Given the description of an element on the screen output the (x, y) to click on. 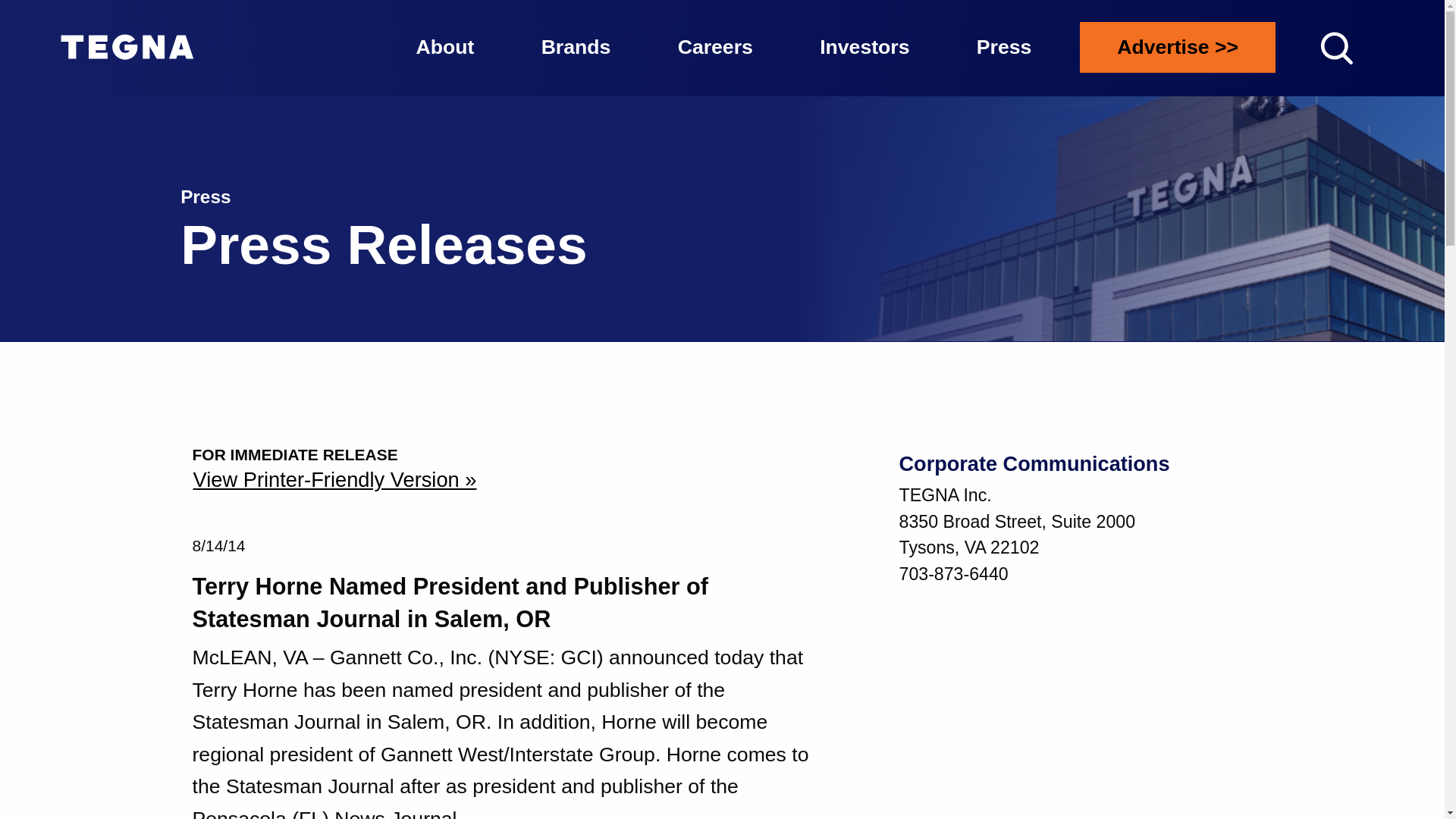
Press (1003, 47)
About (444, 47)
Careers (715, 47)
Brands (576, 47)
Investors (864, 47)
